Given the description of an element on the screen output the (x, y) to click on. 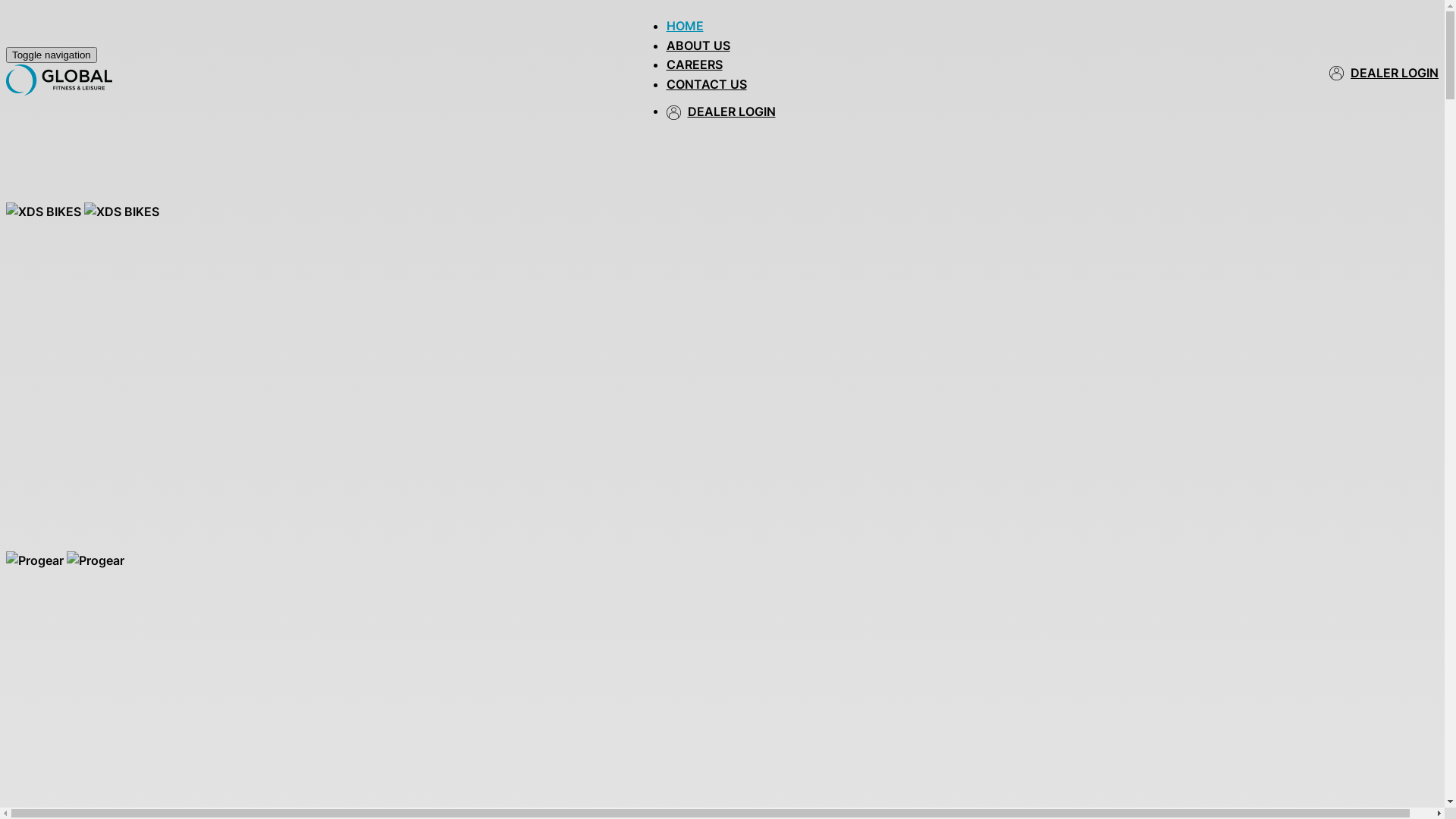
CAREERS Element type: text (693, 63)
CONTACT US Element type: text (705, 83)
DEALER LOGIN Element type: text (1394, 73)
DEALER LOGIN Element type: text (731, 112)
HOME Element type: text (683, 24)
ABOUT US Element type: text (697, 44)
Toggle navigation Element type: text (51, 54)
